Given the description of an element on the screen output the (x, y) to click on. 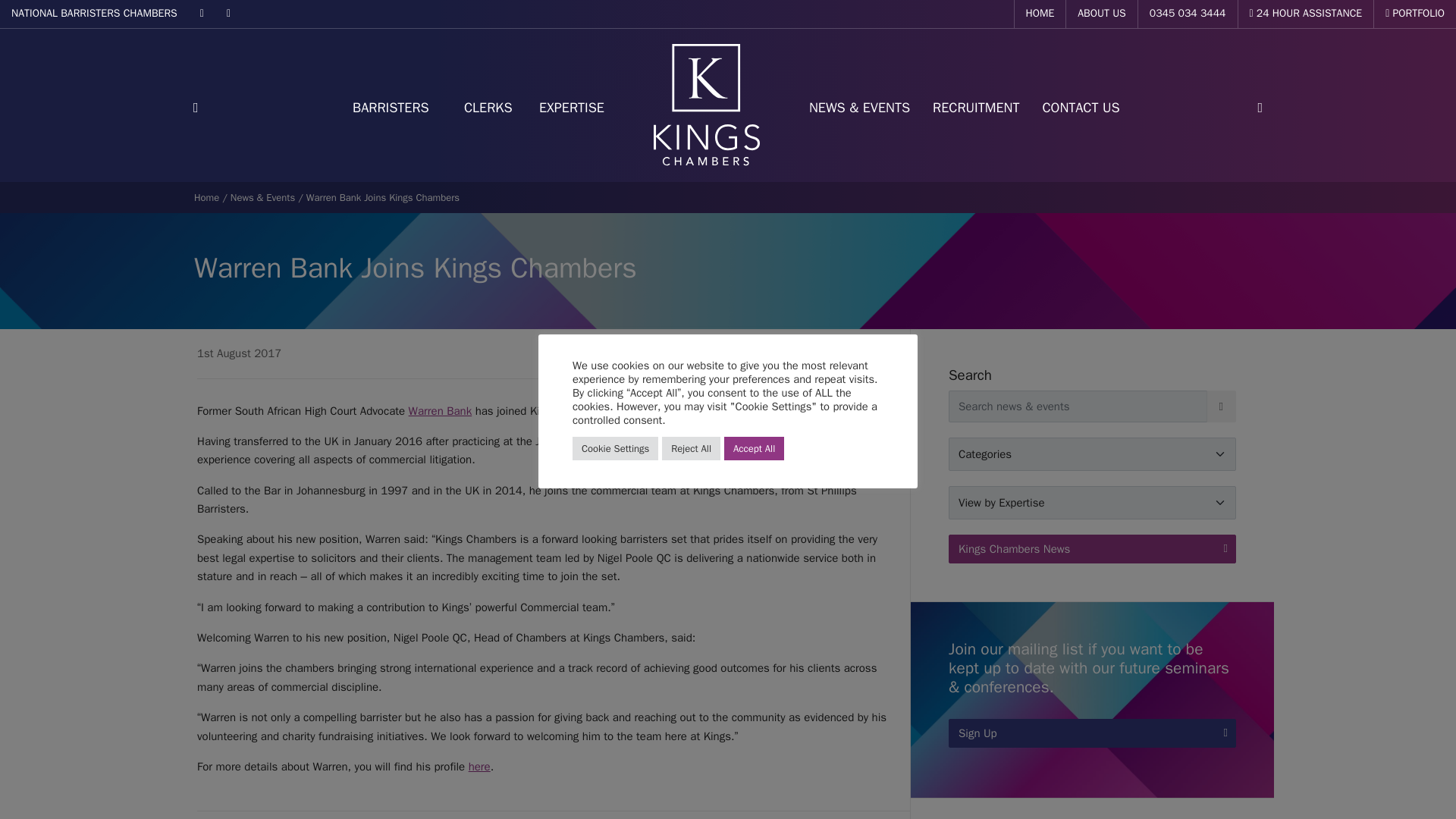
HOME (1039, 13)
 CLERKS  (487, 107)
RECRUITMENT (975, 107)
NATIONAL BARRISTERS CHAMBERS (94, 13)
EXPERTISE (571, 107)
CONTACT US (1080, 107)
ABOUT US (1101, 13)
    BARRISTERS   (386, 107)
24 HOUR ASSISTANCE (1306, 13)
0345 034 3444 (1187, 13)
